Given the description of an element on the screen output the (x, y) to click on. 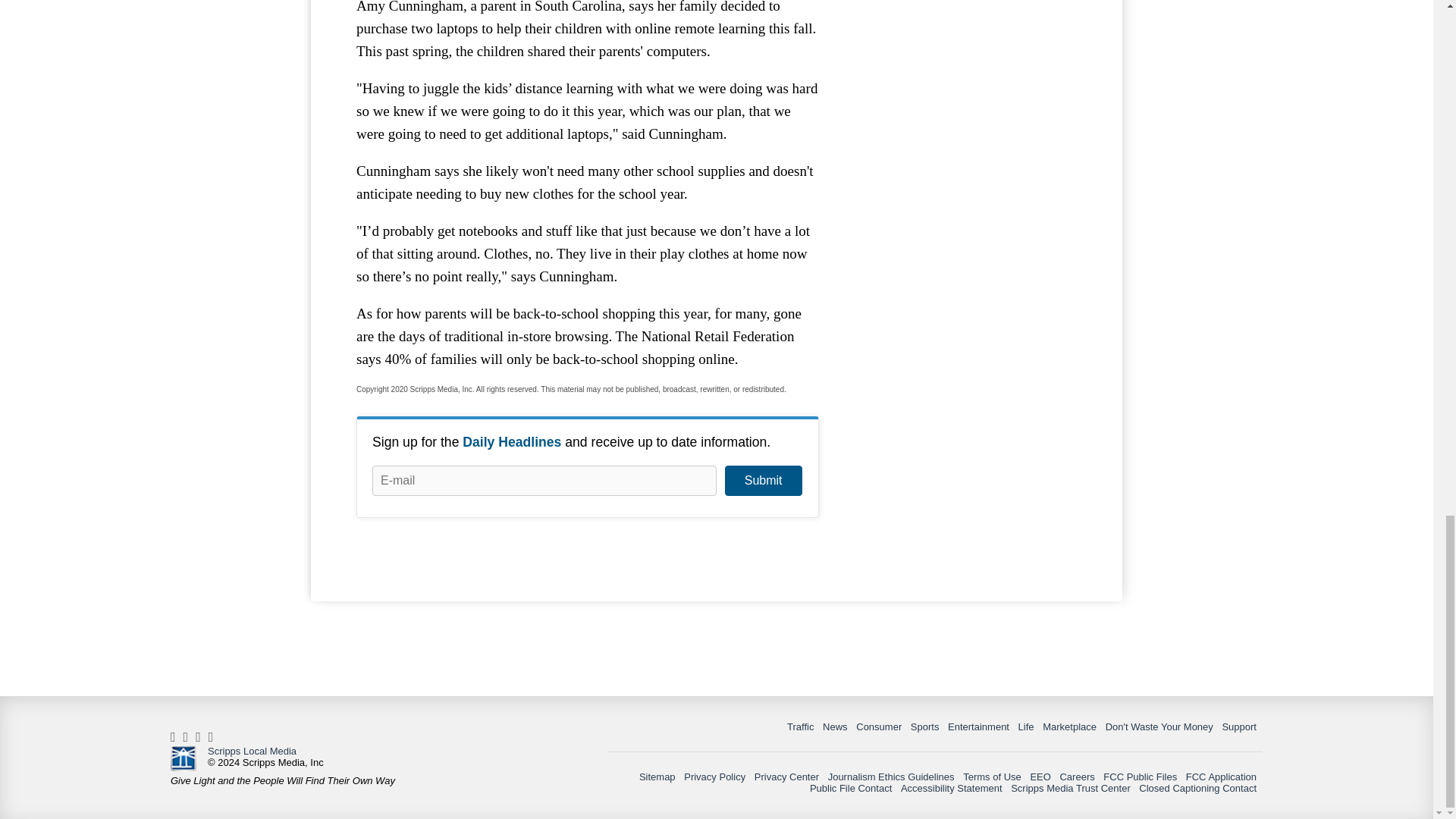
Submit (763, 481)
